Given the description of an element on the screen output the (x, y) to click on. 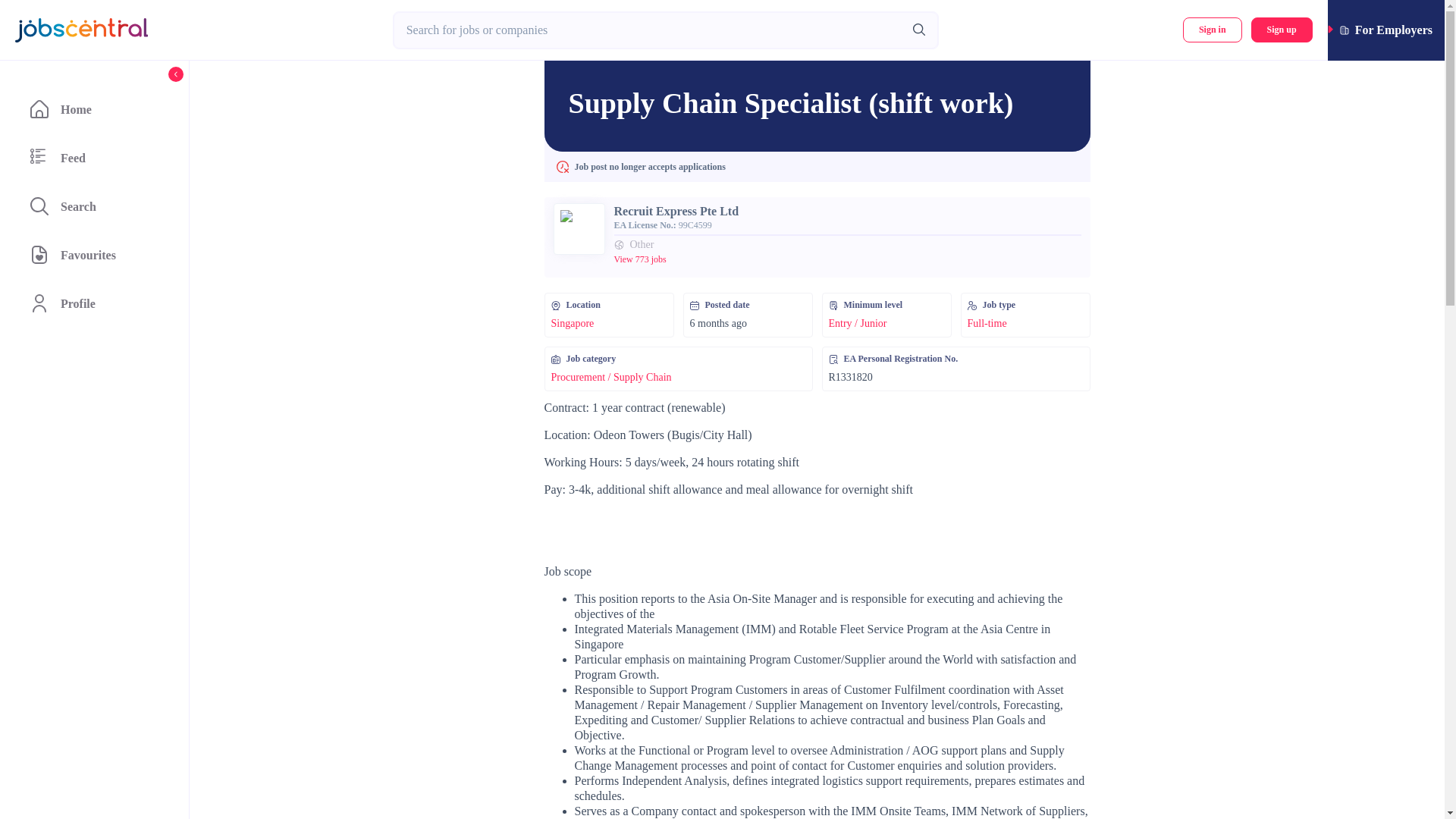
Recruit Express Pte Ltd (676, 211)
Singapore (572, 323)
Sign in (1211, 29)
View 773 jobs (640, 259)
Full-time (987, 323)
Sign up (1281, 29)
